Given the description of an element on the screen output the (x, y) to click on. 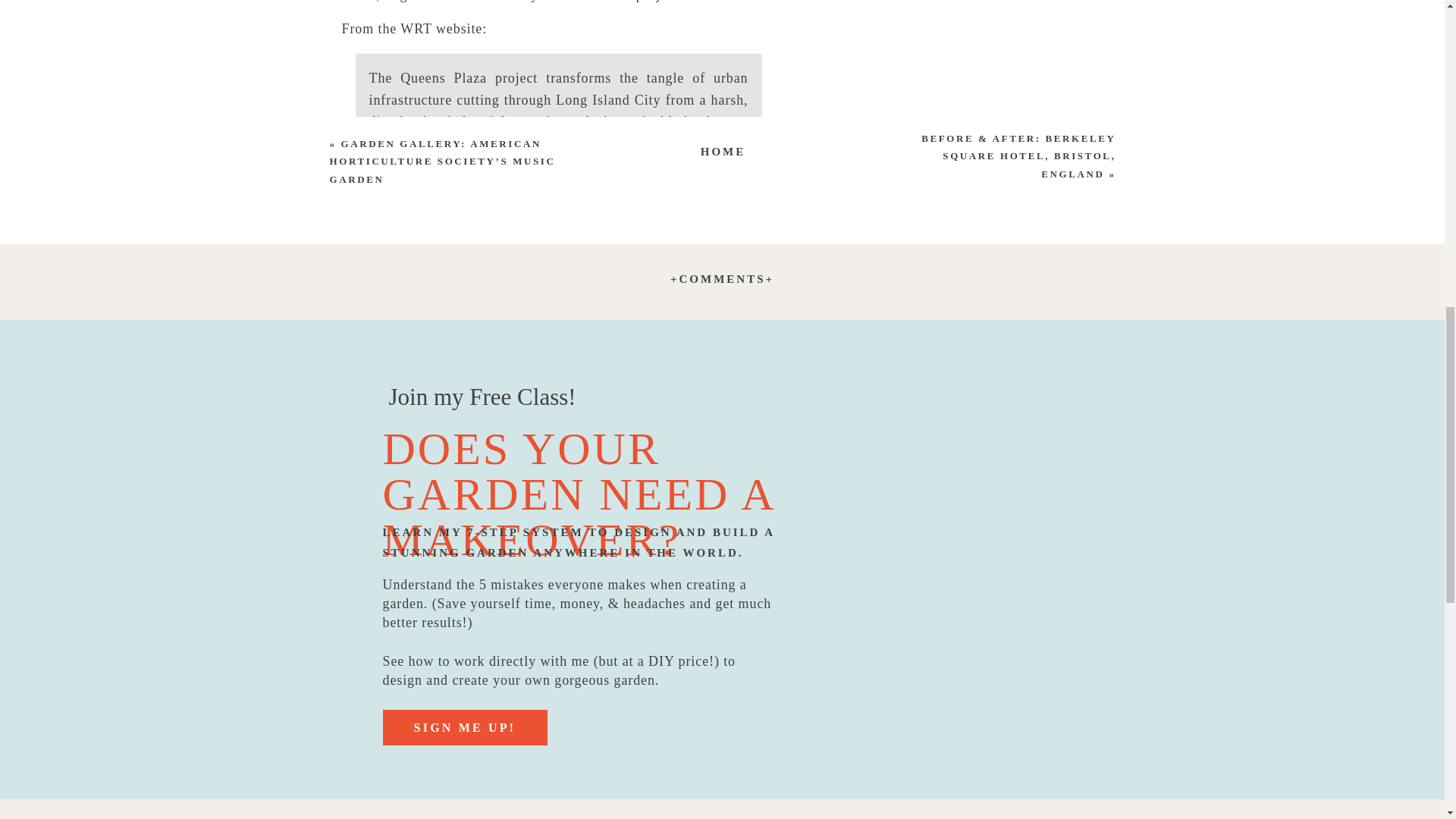
How To Save Time, Money and Water with Ground Covers (788, 378)
Tobiah Horton (485, 736)
Picture 251 (530, 566)
ground cover (788, 378)
HOME (723, 149)
